Given the description of an element on the screen output the (x, y) to click on. 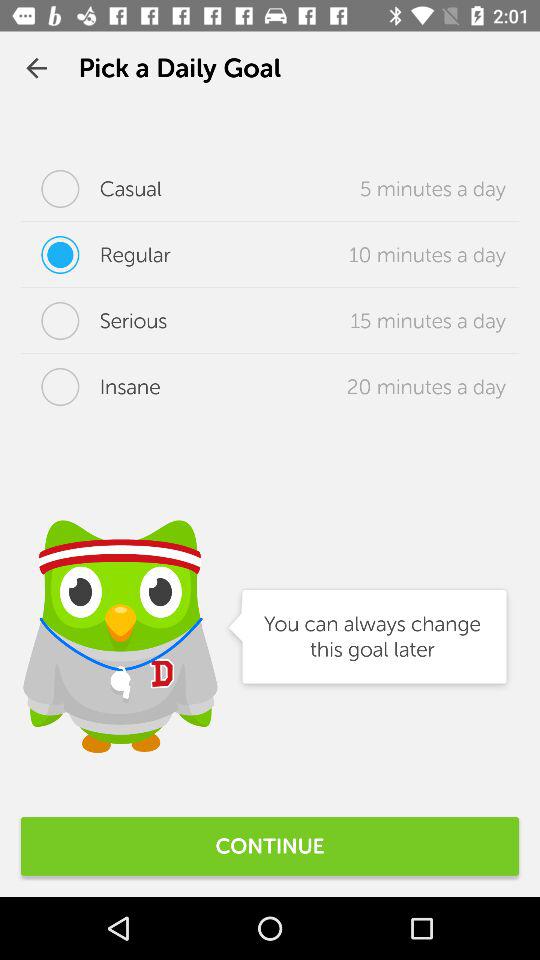
choose item below the regular (94, 321)
